Given the description of an element on the screen output the (x, y) to click on. 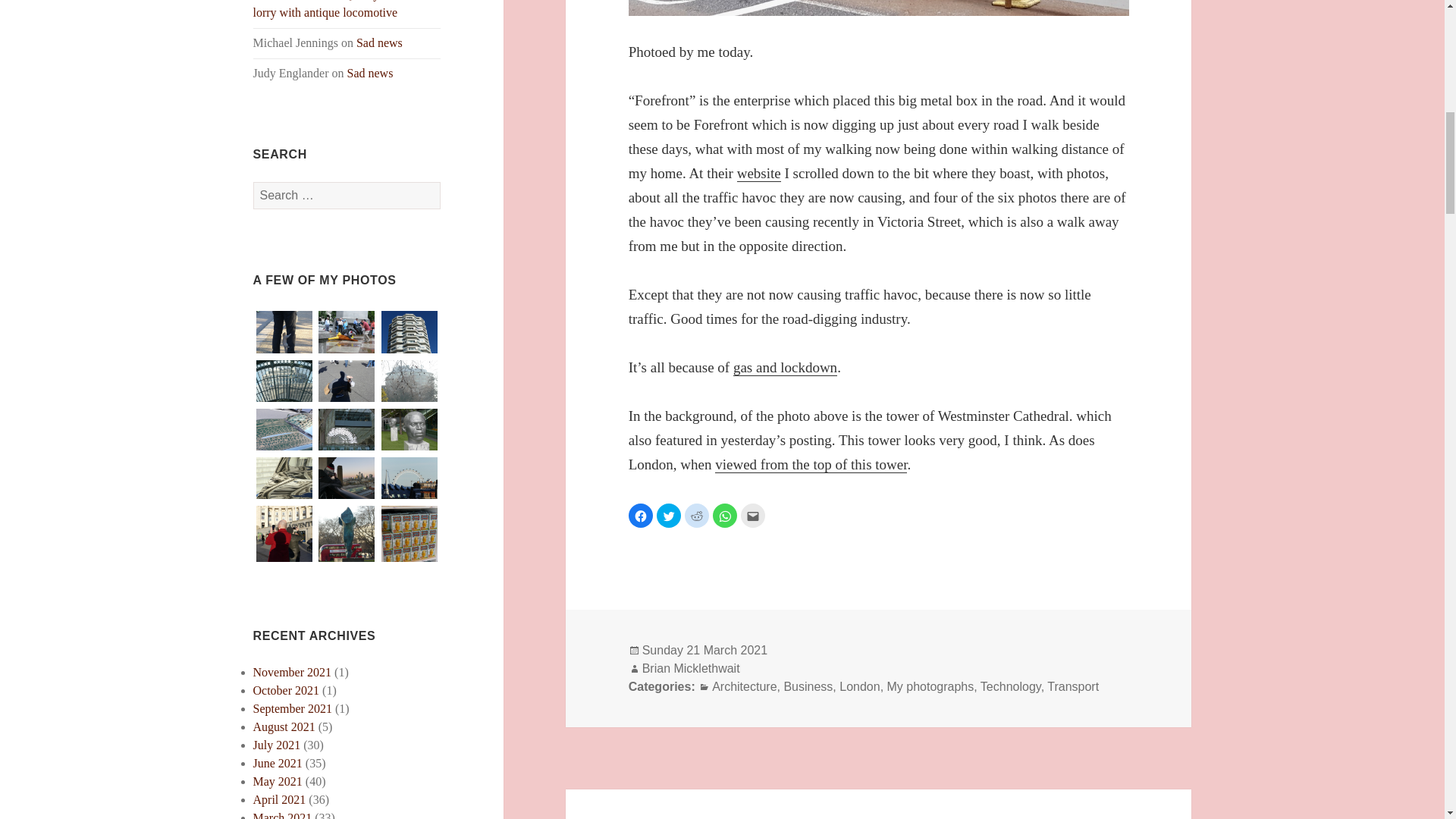
Sad news (370, 72)
Click to share on Reddit (696, 515)
Click to share on Facebook (640, 515)
Click to share on Twitter (668, 515)
Click to email this to a friend (753, 515)
Dutch Quality Flowers lorry with antique locomotive (337, 9)
Click to share on WhatsApp (724, 515)
